Given the description of an element on the screen output the (x, y) to click on. 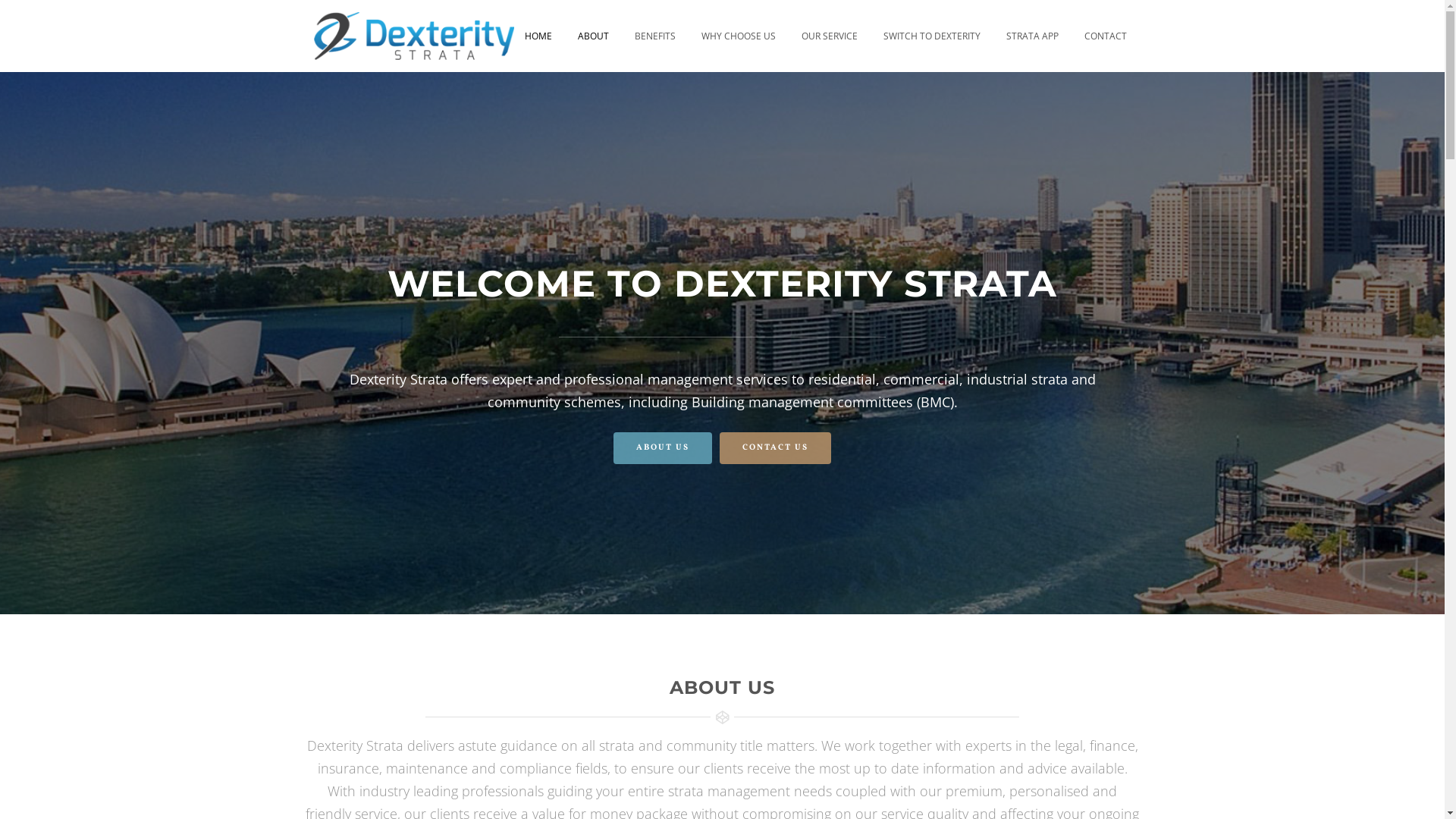
CONTACT US Element type: text (775, 448)
HOME Element type: text (537, 36)
CONTACT Element type: text (1104, 36)
OUR SERVICE Element type: text (829, 36)
STRATA APP Element type: text (1032, 36)
ABOUT Element type: text (592, 36)
BENEFITS Element type: text (654, 36)
WHY CHOOSE US Element type: text (738, 36)
SWITCH TO DEXTERITY Element type: text (931, 36)
ABOUT US Element type: text (662, 448)
